Given the description of an element on the screen output the (x, y) to click on. 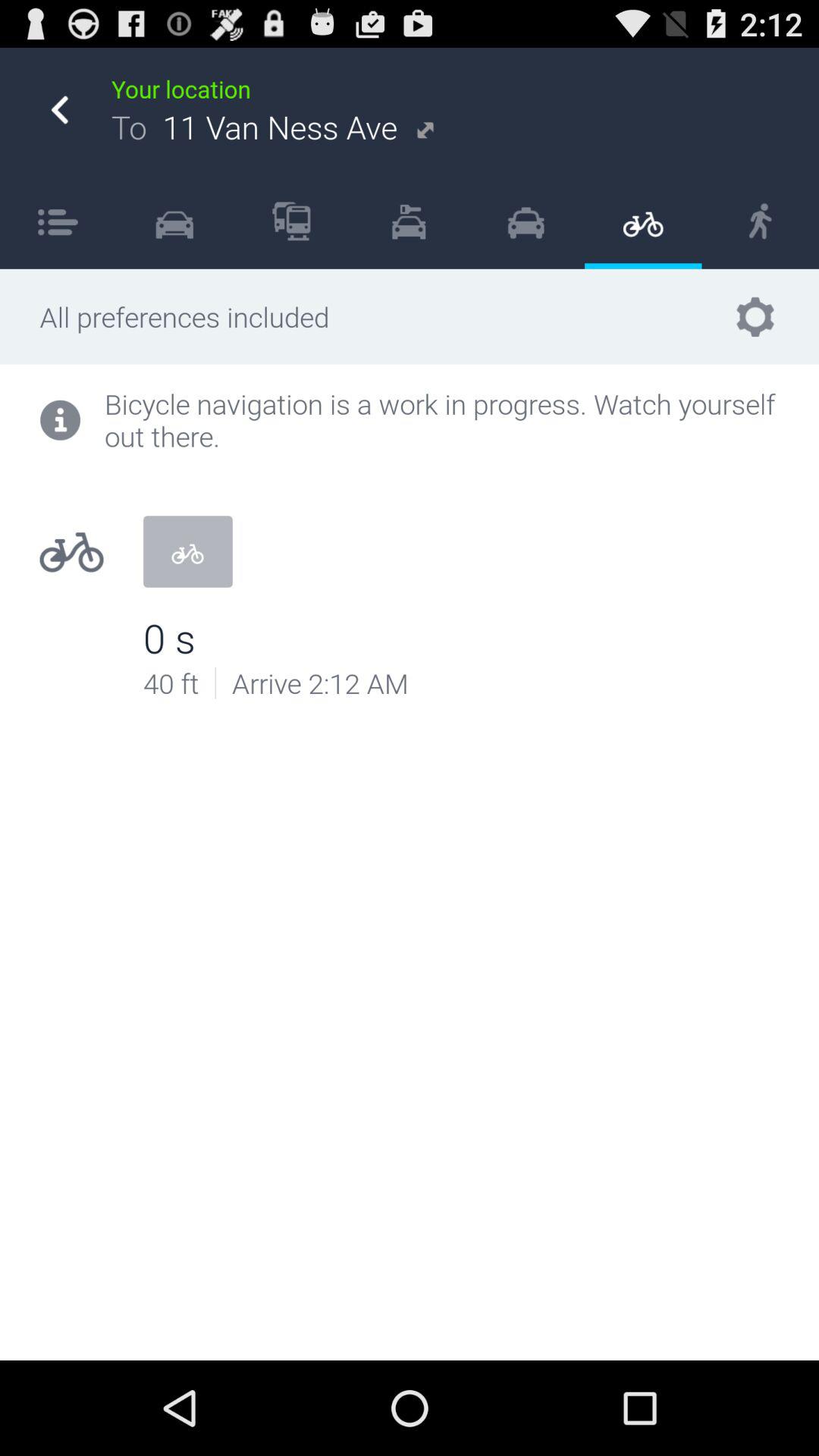
swipe to the   item (525, 221)
